Given the description of an element on the screen output the (x, y) to click on. 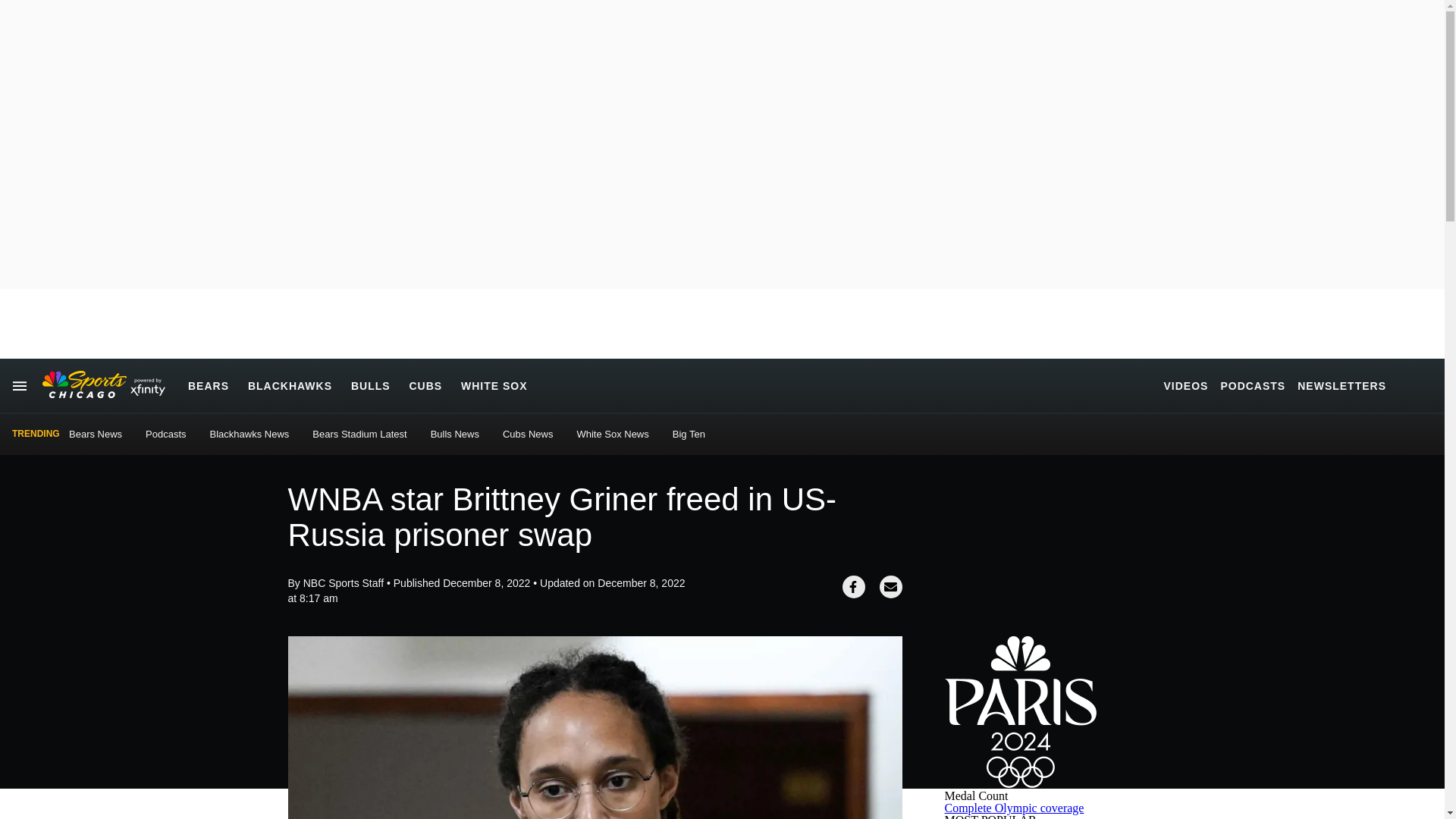
VIDEOS (1185, 385)
CUBS (425, 385)
Bears Stadium Latest (359, 433)
NBC Sports Staff (343, 582)
Big Ten (688, 433)
BEARS (207, 385)
WHITE SOX (494, 385)
Podcasts (165, 433)
BLACKHAWKS (289, 385)
Cubs News (527, 433)
